Given the description of an element on the screen output the (x, y) to click on. 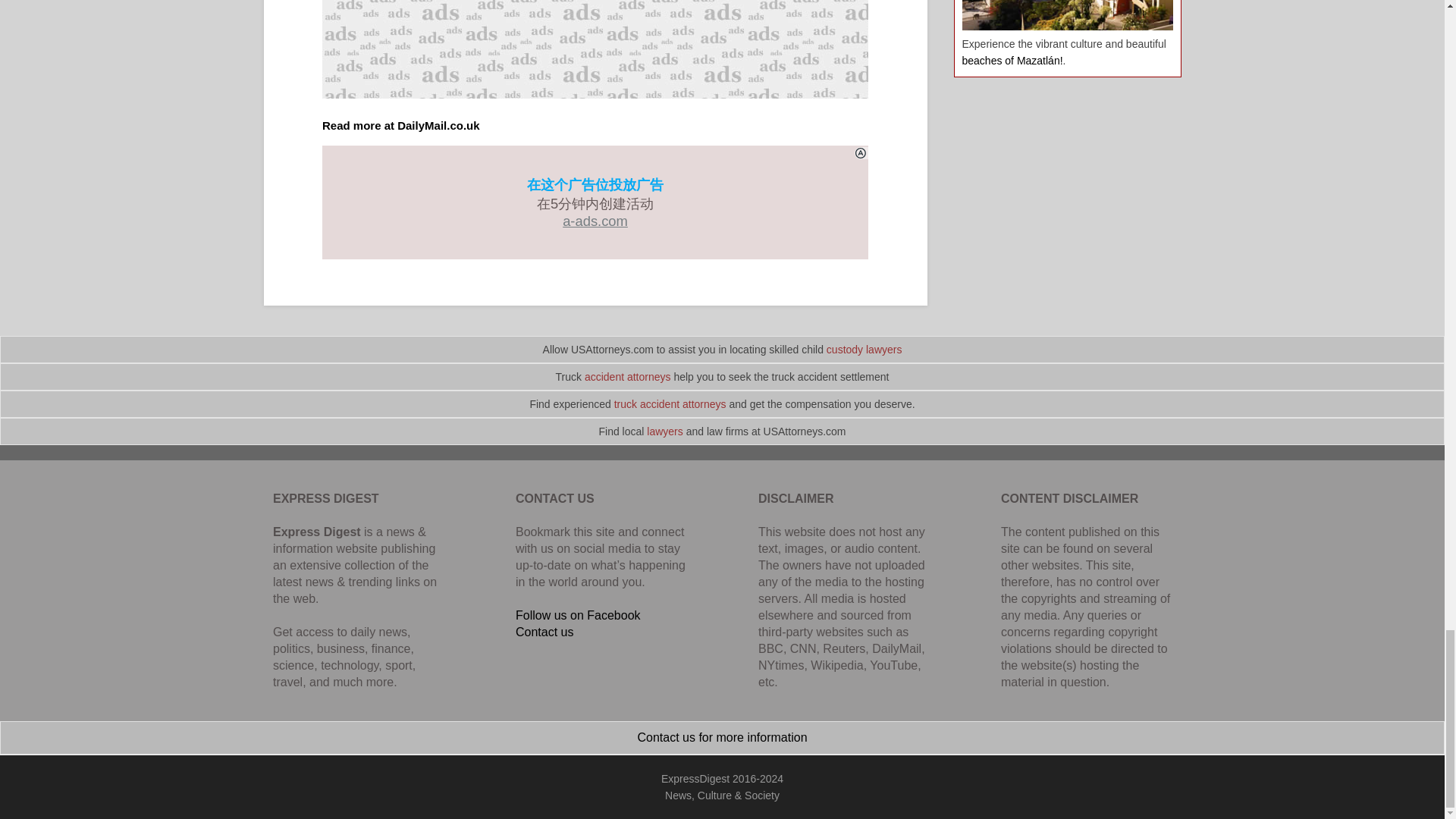
truck accident attorneys (670, 404)
lawyers (664, 431)
accident attorneys (628, 377)
custody lawyers (864, 349)
Read more at DailyMail.co.uk (400, 124)
